Given the description of an element on the screen output the (x, y) to click on. 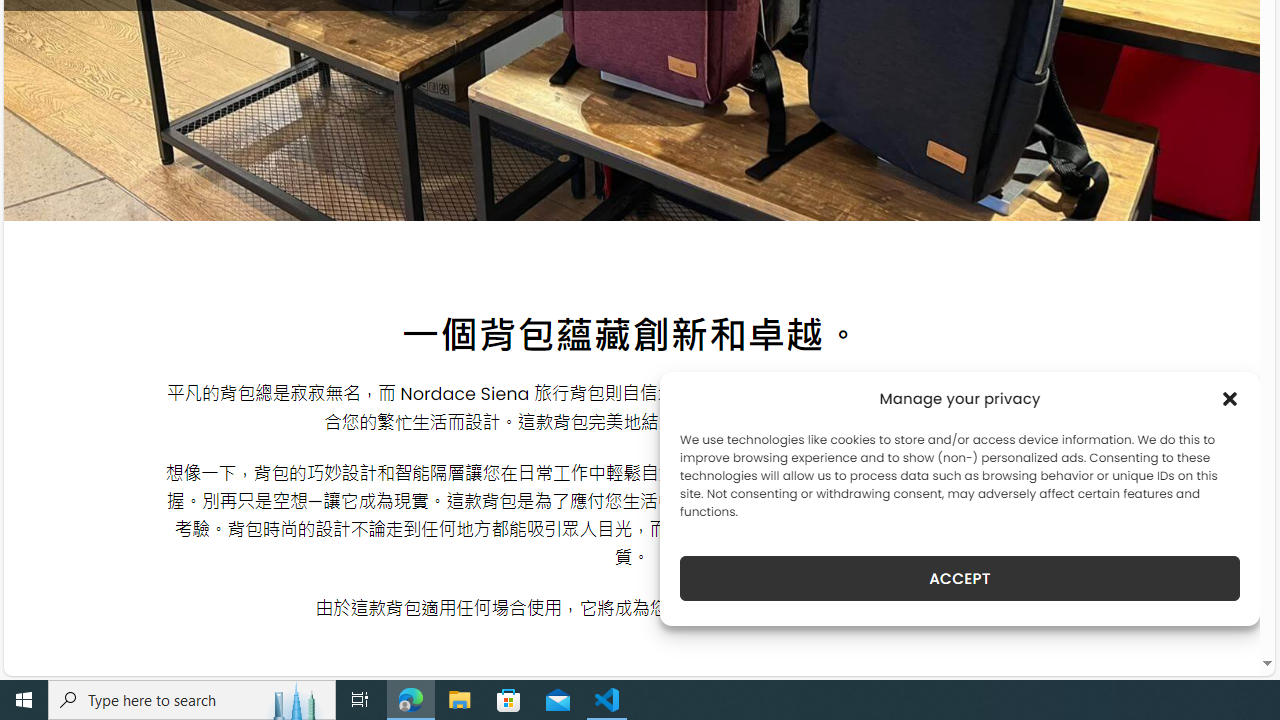
ACCEPT (959, 578)
Class: cmplz-close (1229, 398)
